Given the description of an element on the screen output the (x, y) to click on. 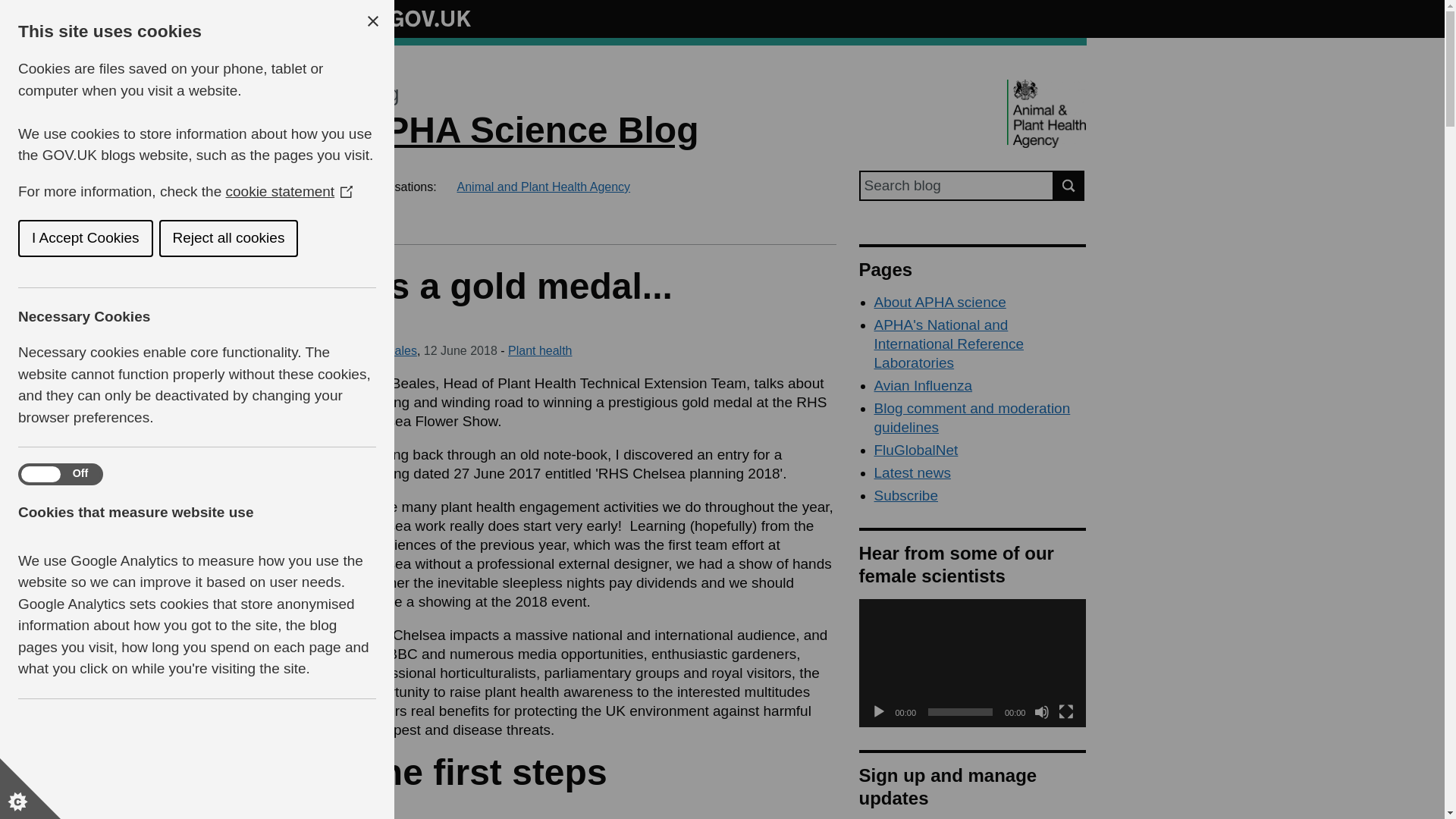
Skip to main content (11, 7)
About APHA science (939, 302)
Avian Influenza (922, 385)
APHA's National and International Reference Laboratories (948, 343)
GOV.UK (414, 18)
Blog comment and moderation guidelines (971, 417)
Subscribe (905, 495)
Search (1069, 185)
Go to the GOV.UK homepage (414, 18)
paulbeales (387, 350)
